Given the description of an element on the screen output the (x, y) to click on. 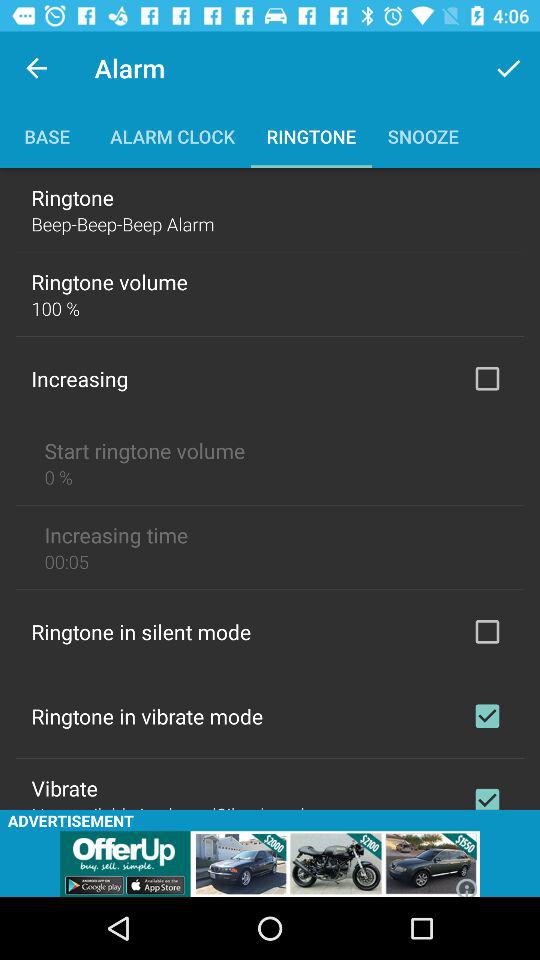
select increasing volume (487, 378)
